Given the description of an element on the screen output the (x, y) to click on. 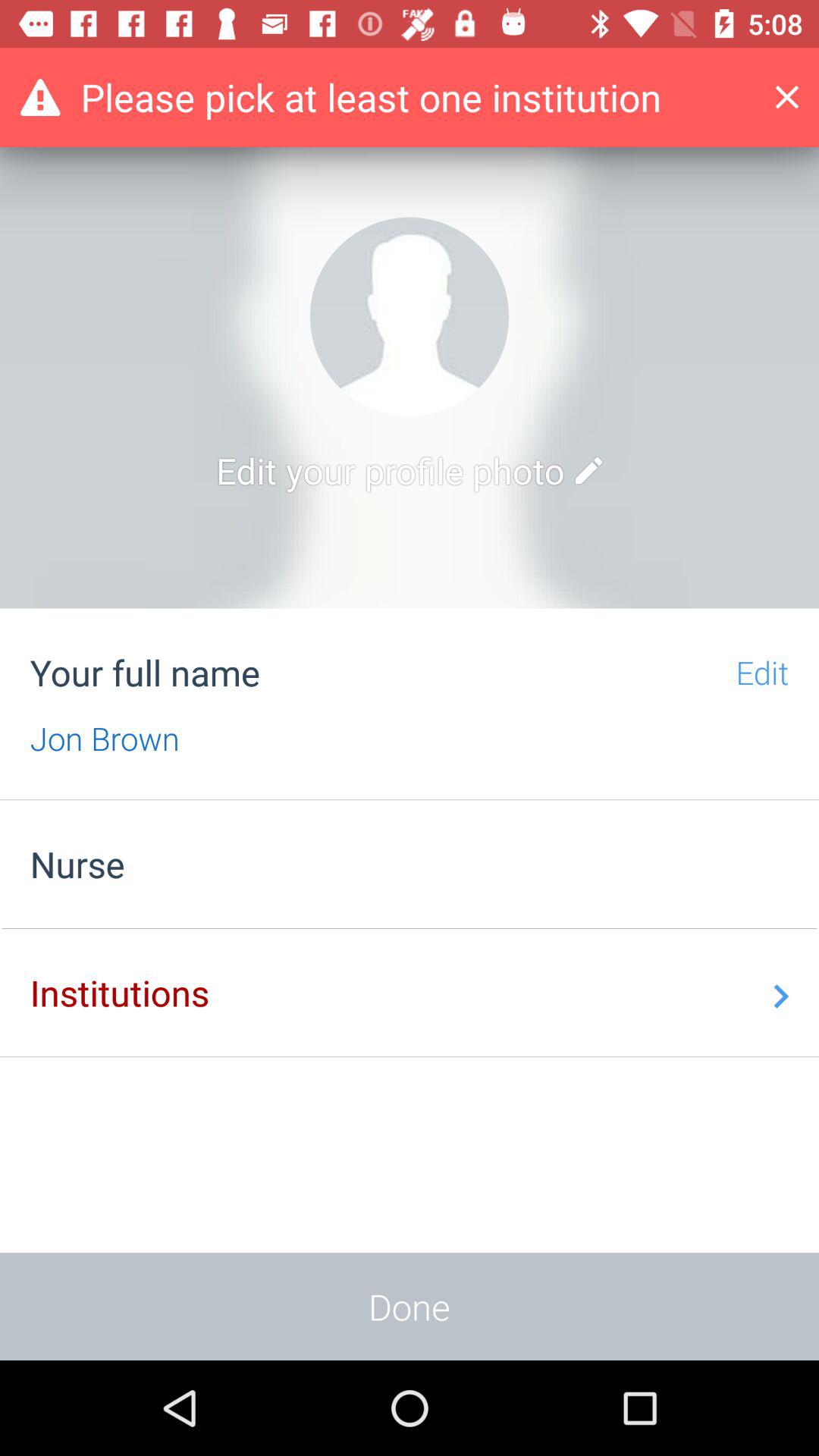
close the add (798, 97)
